Given the description of an element on the screen output the (x, y) to click on. 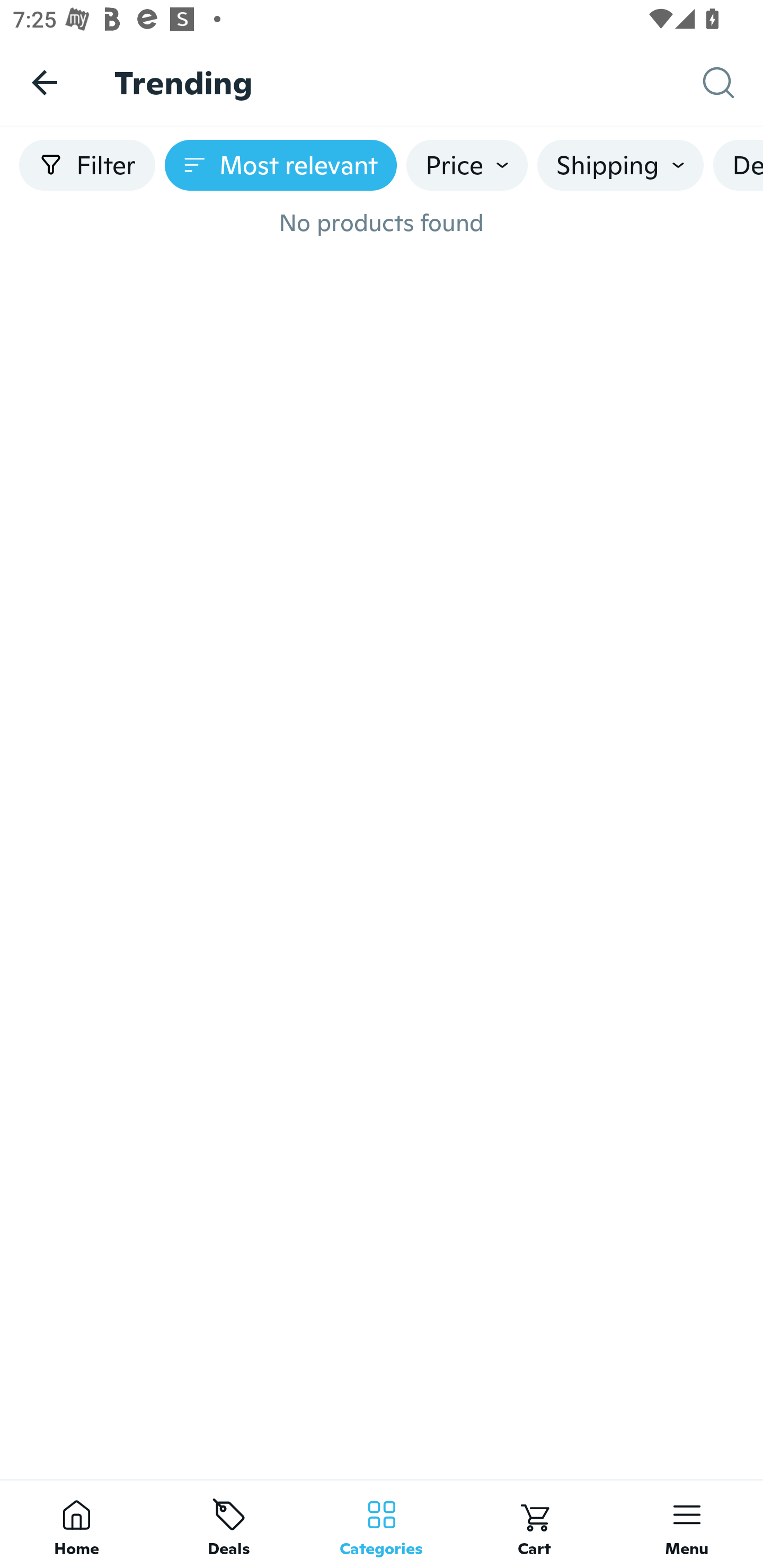
Navigate up (44, 82)
Search (732, 82)
Filter (86, 165)
Most relevant (280, 165)
Price (466, 165)
Shipping (620, 165)
Home (76, 1523)
Deals (228, 1523)
Categories (381, 1523)
Cart (533, 1523)
Menu (686, 1523)
